Given the description of an element on the screen output the (x, y) to click on. 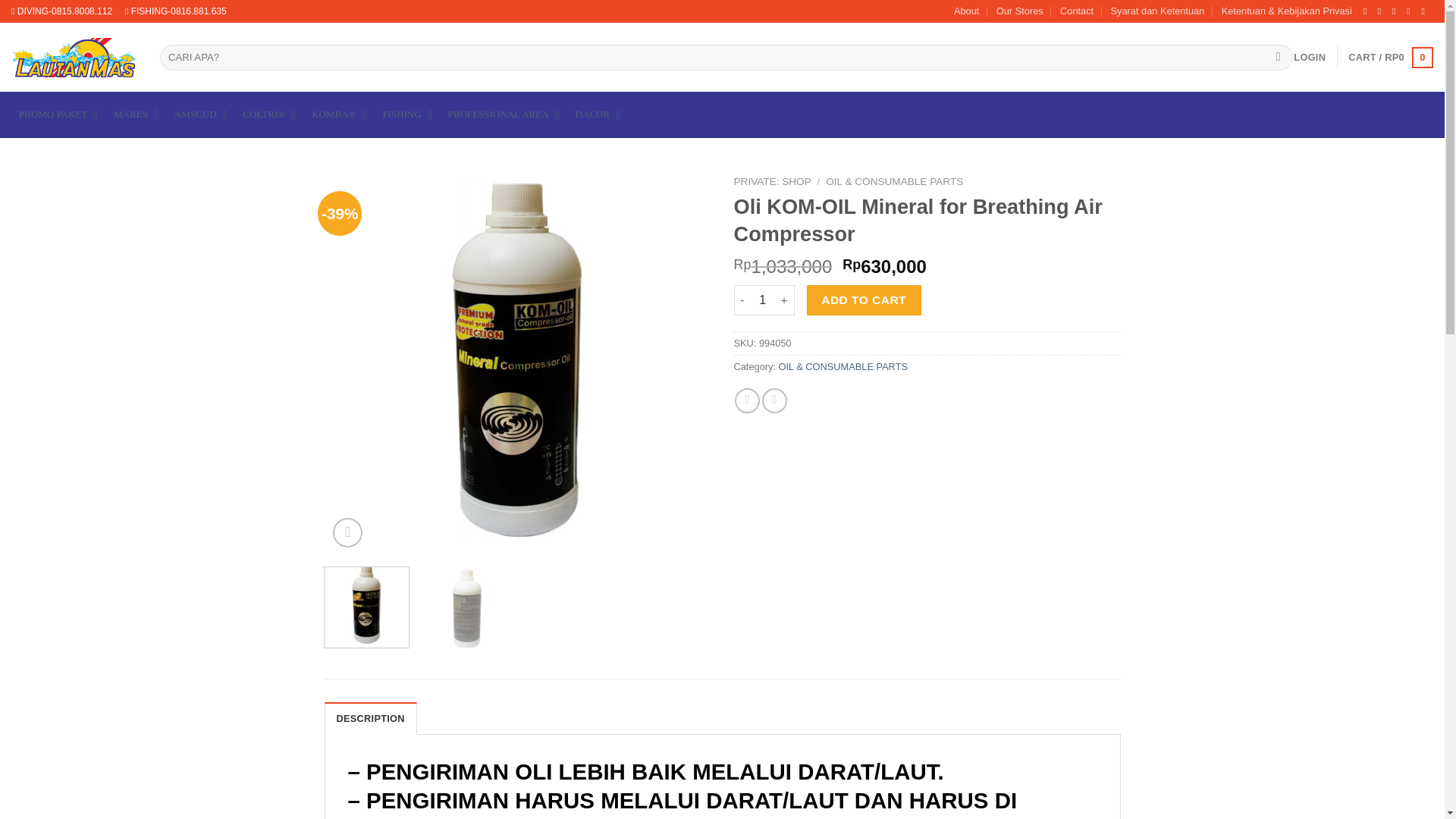
Search (1277, 57)
Login (1309, 57)
Email to a Friend (774, 400)
About (965, 11)
MARES (136, 114)
Our Stores (1019, 11)
Cart (1390, 57)
LOGIN (1309, 57)
Syarat dan Ketentuan (1157, 11)
Contact (1076, 11)
PROMO PAKET (58, 114)
Share on Facebook (747, 400)
Zoom (347, 532)
